Given the description of an element on the screen output the (x, y) to click on. 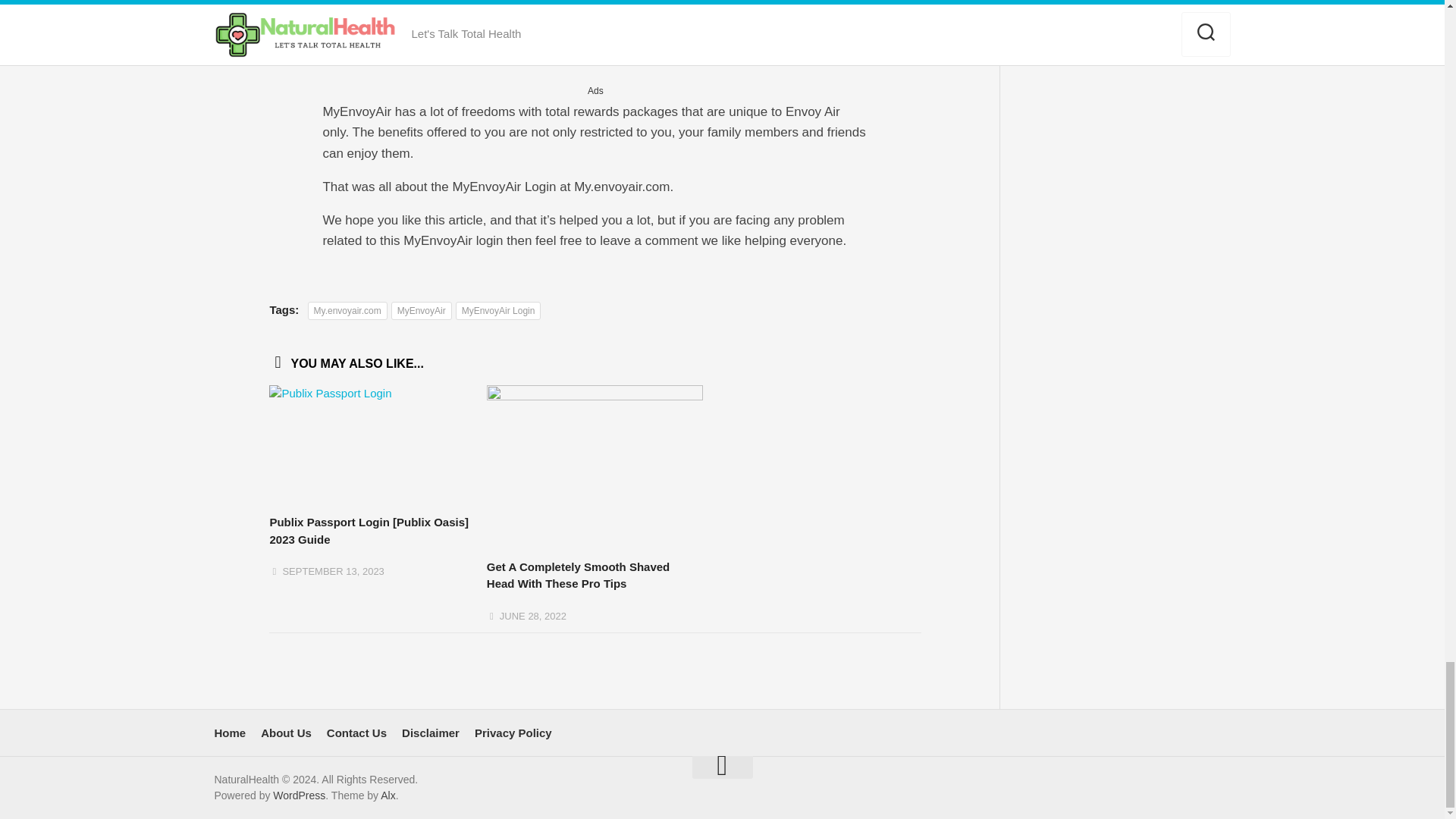
My.envoyair.com (347, 311)
MyEnvoyAir (421, 311)
Get A Completely Smooth Shaved Head With These Pro Tips (577, 575)
MyEnvoyAir Login (498, 311)
